Given the description of an element on the screen output the (x, y) to click on. 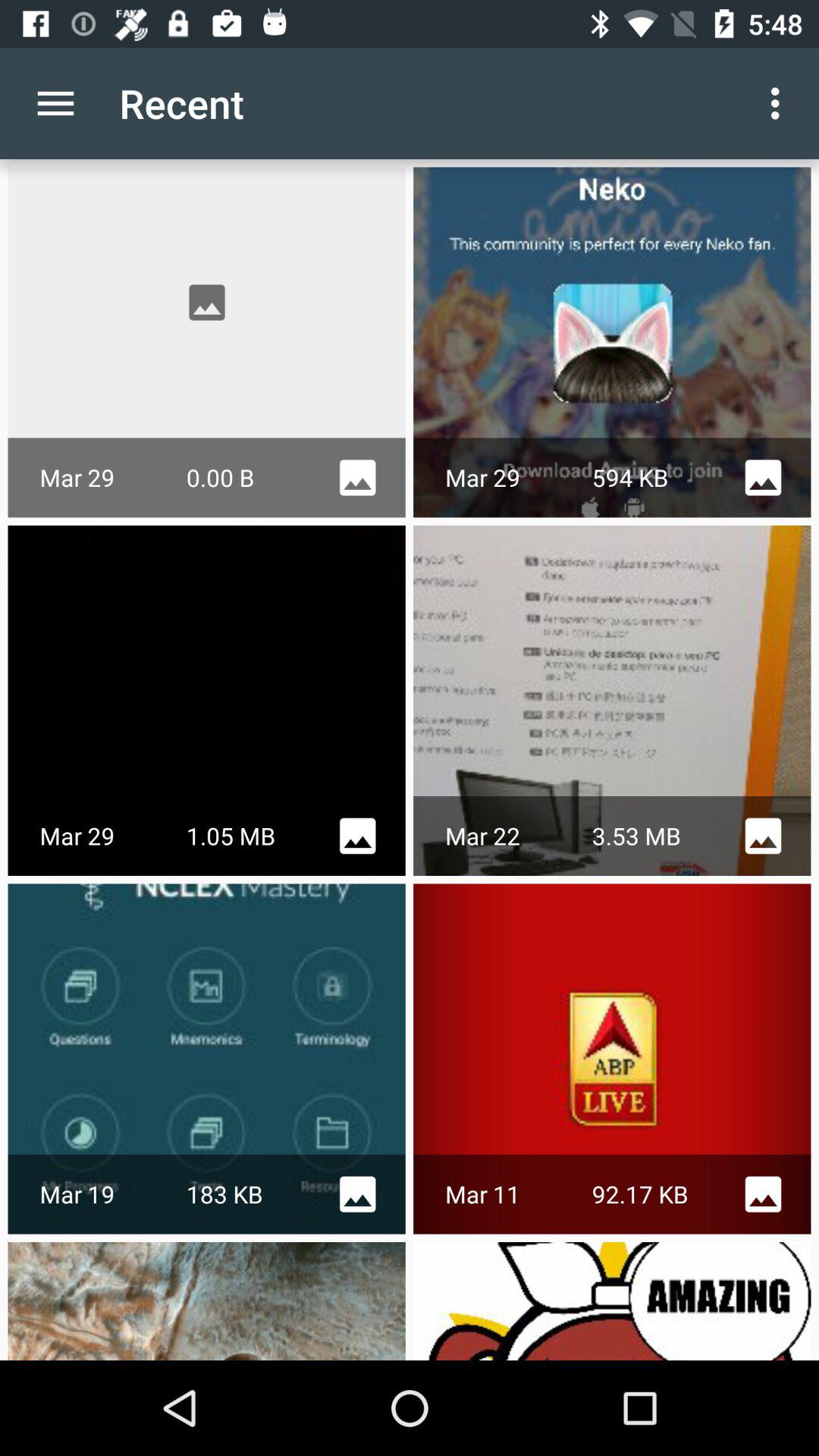
turn on the icon next to the recent app (779, 103)
